Given the description of an element on the screen output the (x, y) to click on. 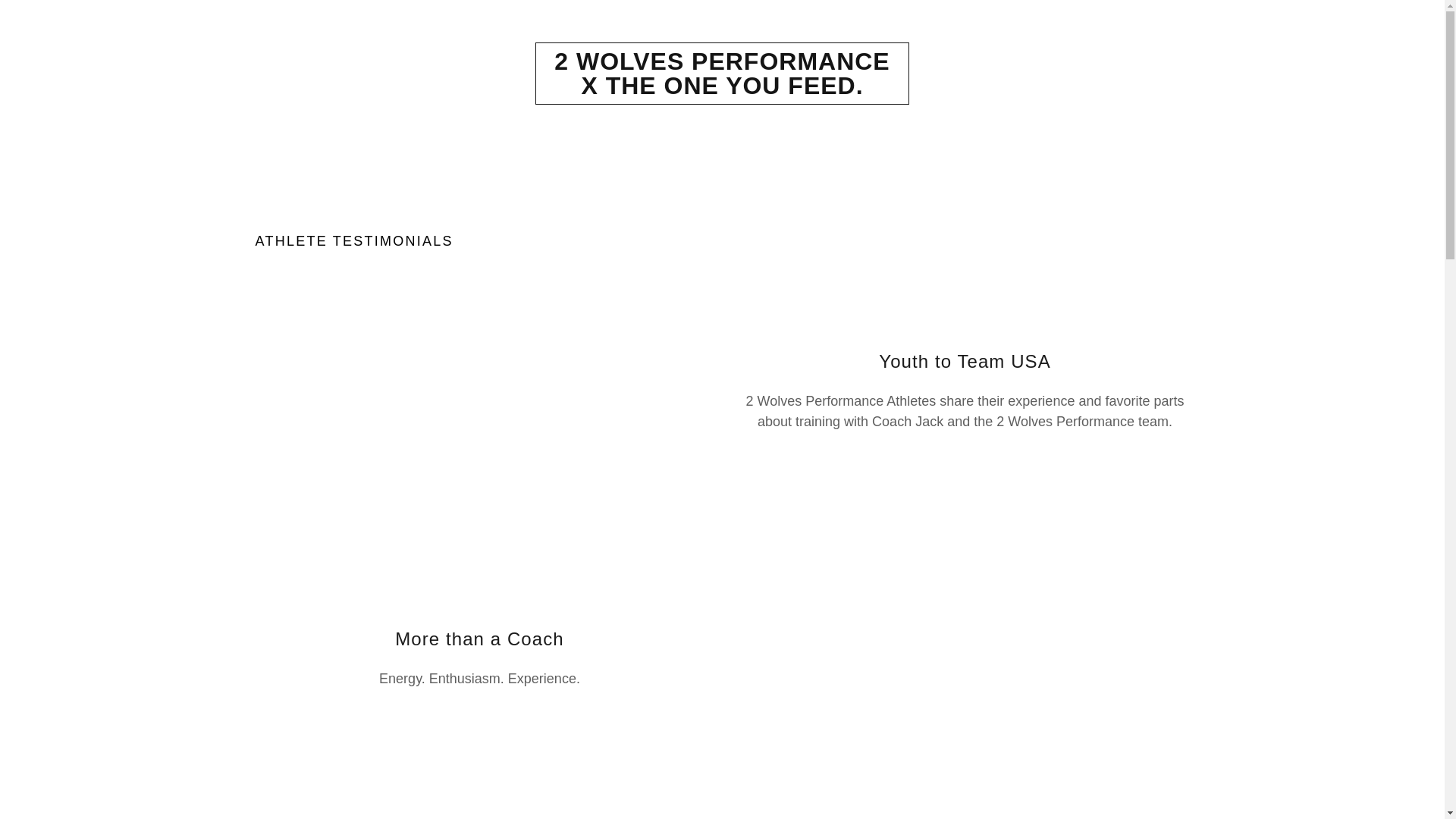
2 WOLVES PERFORMANCE X THE ONE YOU FEED. Element type: text (722, 89)
